Given the description of an element on the screen output the (x, y) to click on. 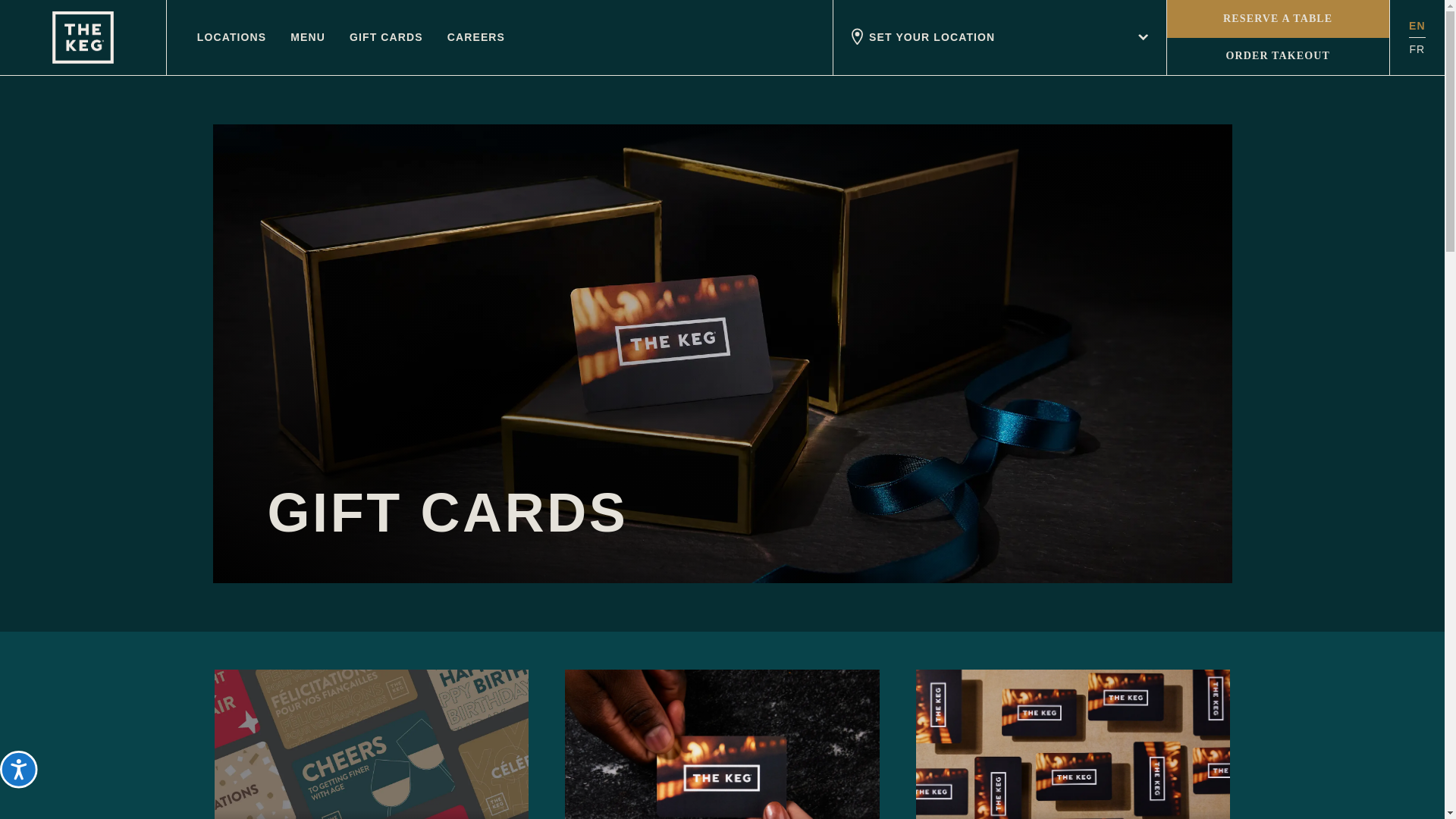
DIGITAL GIFT CARDS (371, 744)
GIFT CARDS (386, 37)
MENU (306, 37)
Accessibility (34, 785)
PHYSICAL GIFT CARDS (721, 744)
LOCATIONS (231, 37)
CAREERS (475, 37)
